Given the description of an element on the screen output the (x, y) to click on. 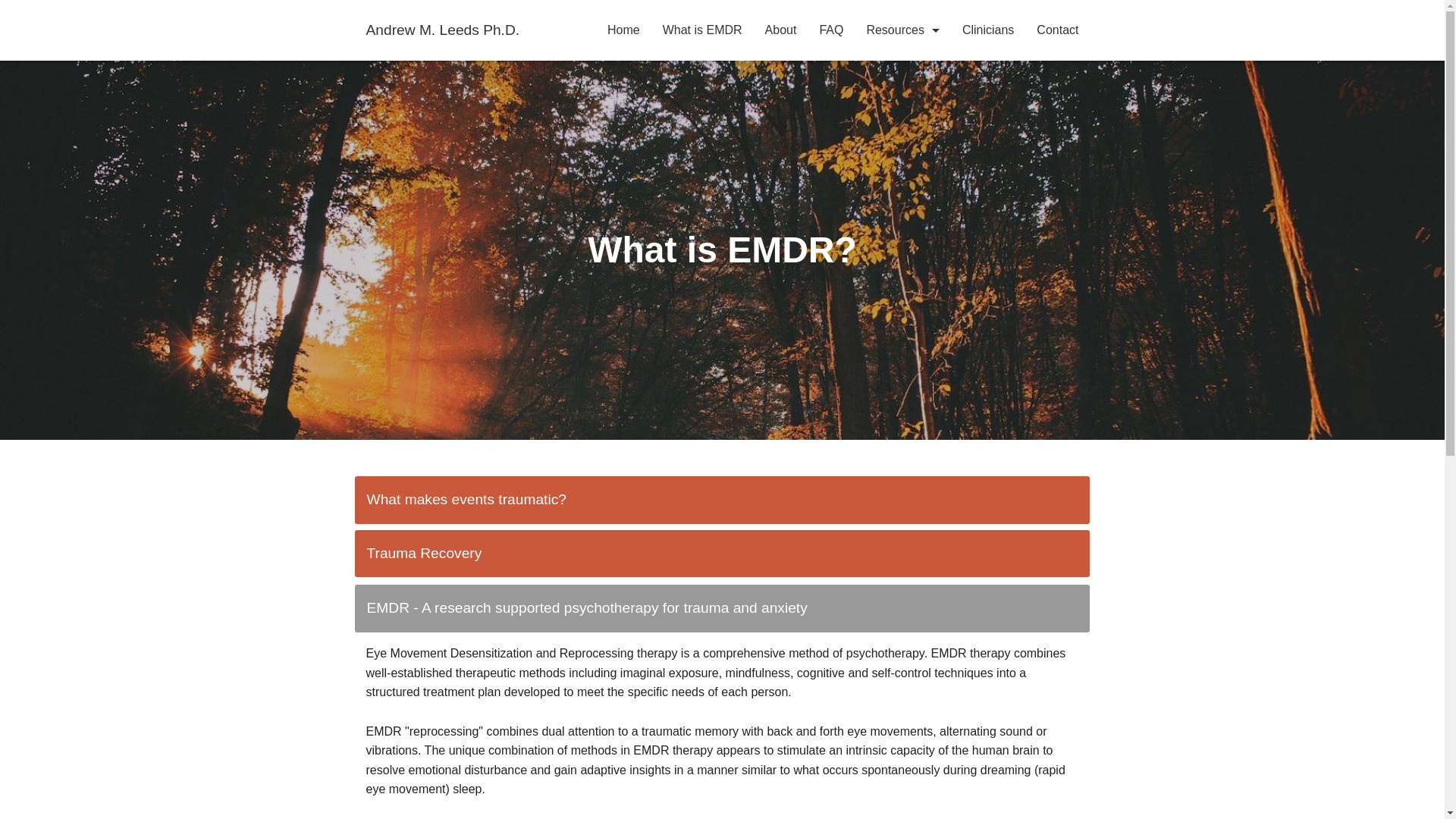
Resources (902, 30)
Trauma Recovery (722, 553)
Clinicians (987, 30)
What is EMDR (702, 30)
Andrew M. Leeds Ph.D. (442, 30)
What makes events traumatic? (722, 499)
About (781, 30)
HeartMath (902, 145)
Contact (1057, 30)
Home (622, 30)
